Given the description of an element on the screen output the (x, y) to click on. 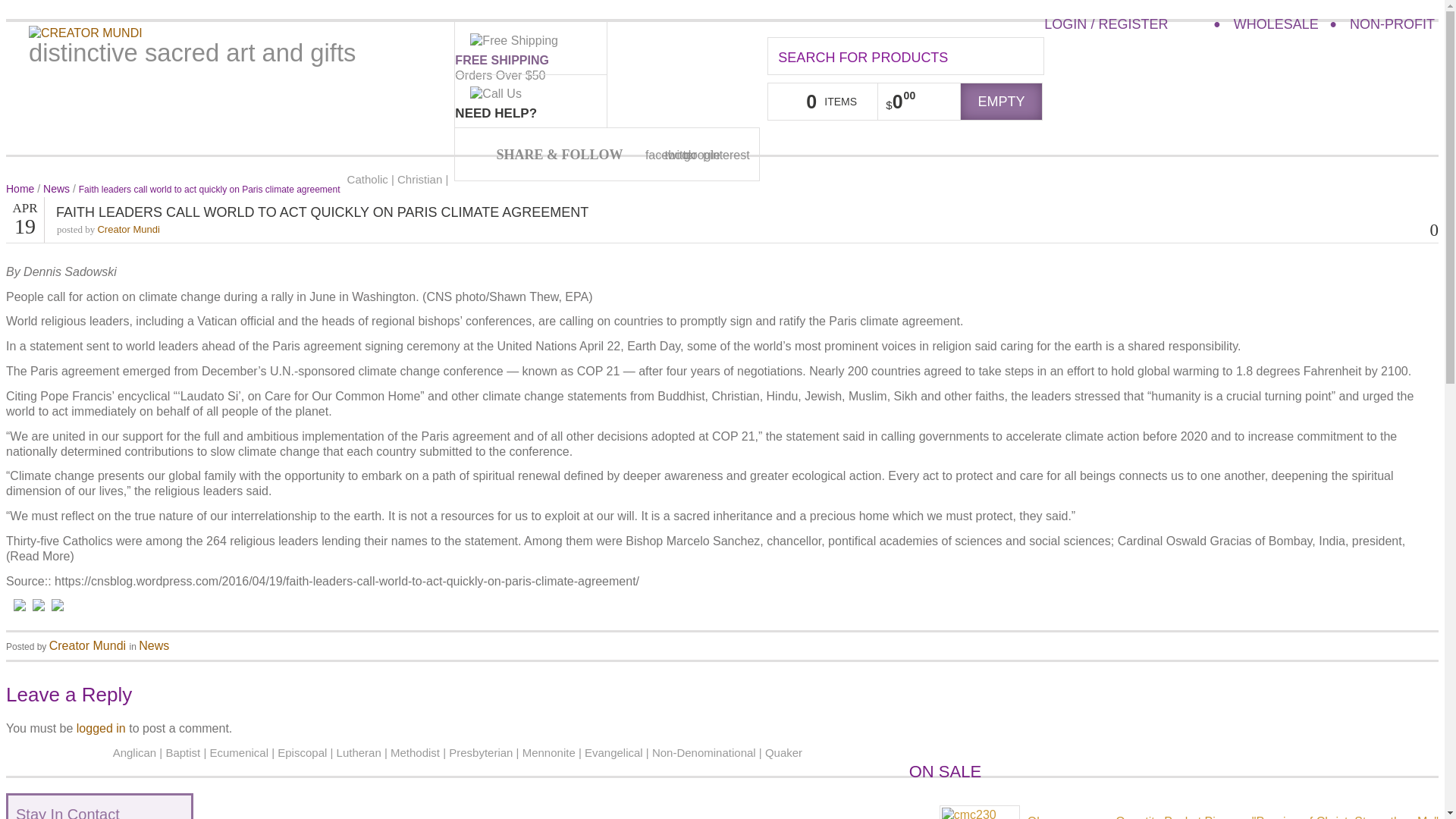
FREE SHIPPING (501, 60)
EMPTY CART (1001, 101)
Shop (121, 133)
Posts by Creator Mundi (127, 229)
Posts by Creator Mundi (87, 645)
Home (65, 133)
Religious Gifts (204, 133)
Creator Mundi (85, 32)
Creator Mundi (85, 32)
WHOLESALE (1276, 23)
